Given the description of an element on the screen output the (x, y) to click on. 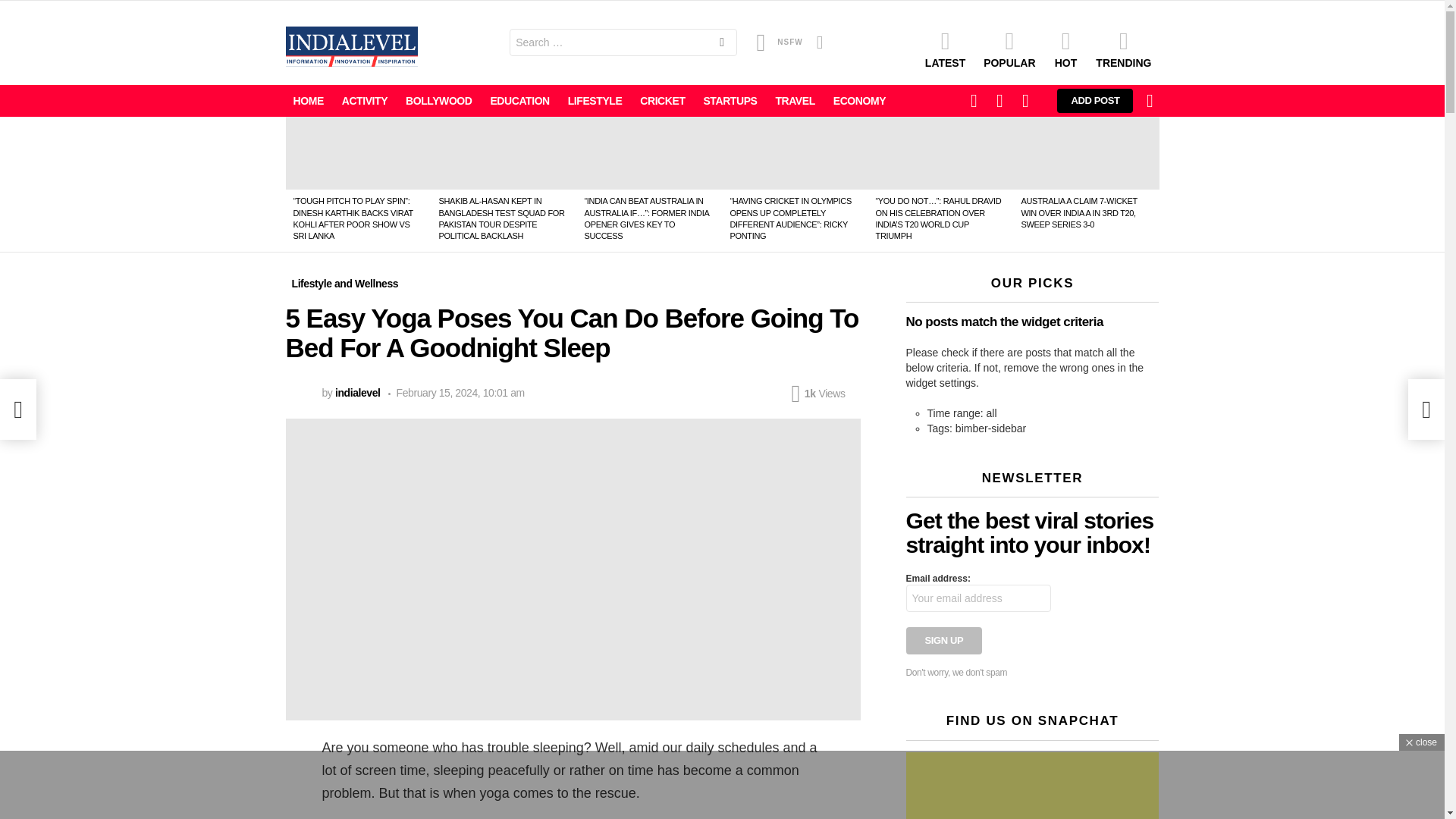
ACTIVITY (364, 100)
HOME (307, 100)
STARTUPS (729, 100)
TRAVEL (794, 100)
HOT (1064, 48)
SEARCH (721, 43)
BOLLYWOOD (438, 100)
LIFESTYLE (595, 100)
Sign up (943, 640)
TRENDING (1122, 48)
